Given the description of an element on the screen output the (x, y) to click on. 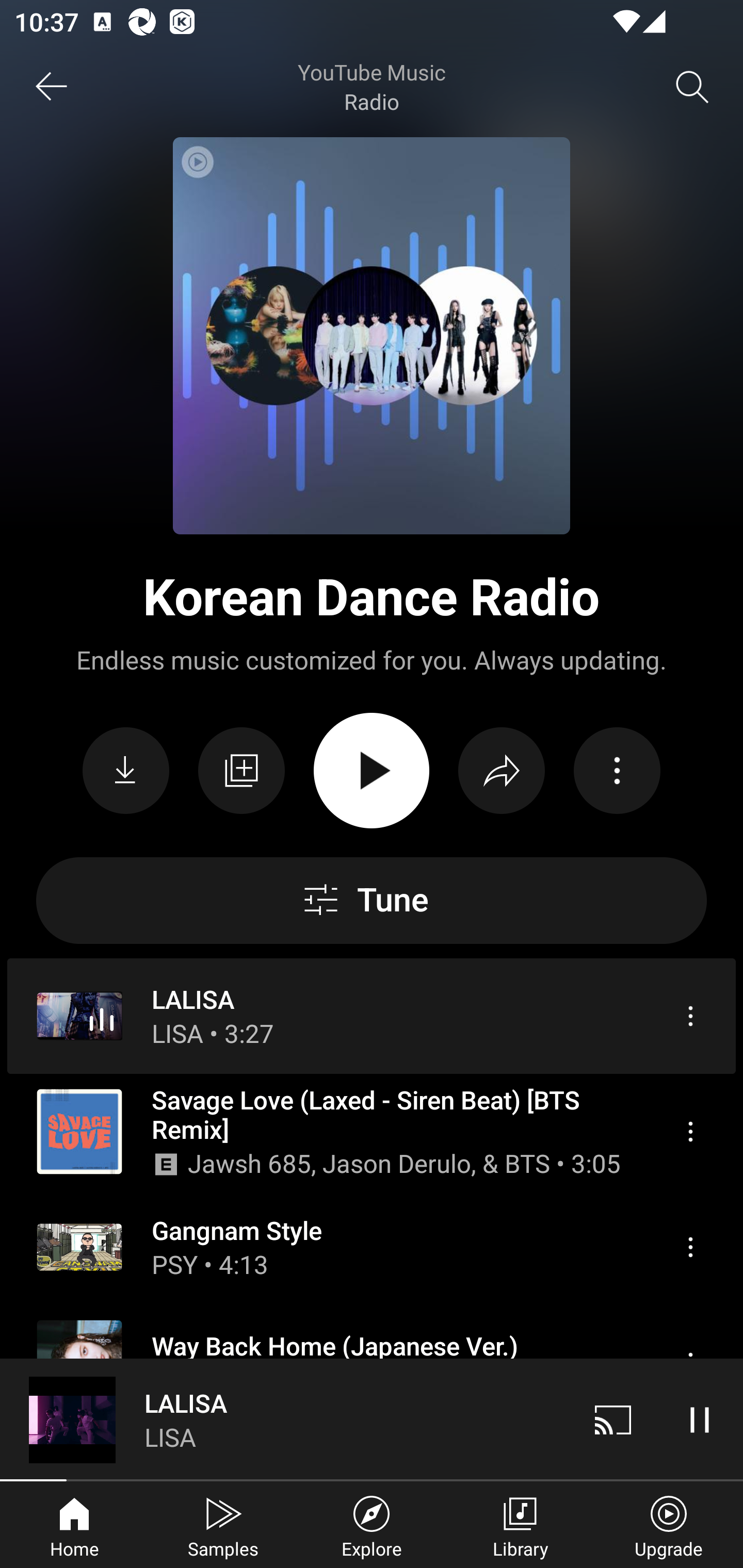
Back (50, 86)
Search (692, 86)
PLAY ALL (371, 770)
Download (125, 770)
Save to library (241, 770)
Share (501, 770)
Action menu (616, 770)
Menu (690, 1016)
Menu (690, 1132)
Menu (690, 1246)
LALISA LISA (284, 1419)
Cast. Disconnected (612, 1419)
Pause video (699, 1419)
Home (74, 1524)
Samples (222, 1524)
Explore (371, 1524)
Library (519, 1524)
Upgrade (668, 1524)
